Given the description of an element on the screen output the (x, y) to click on. 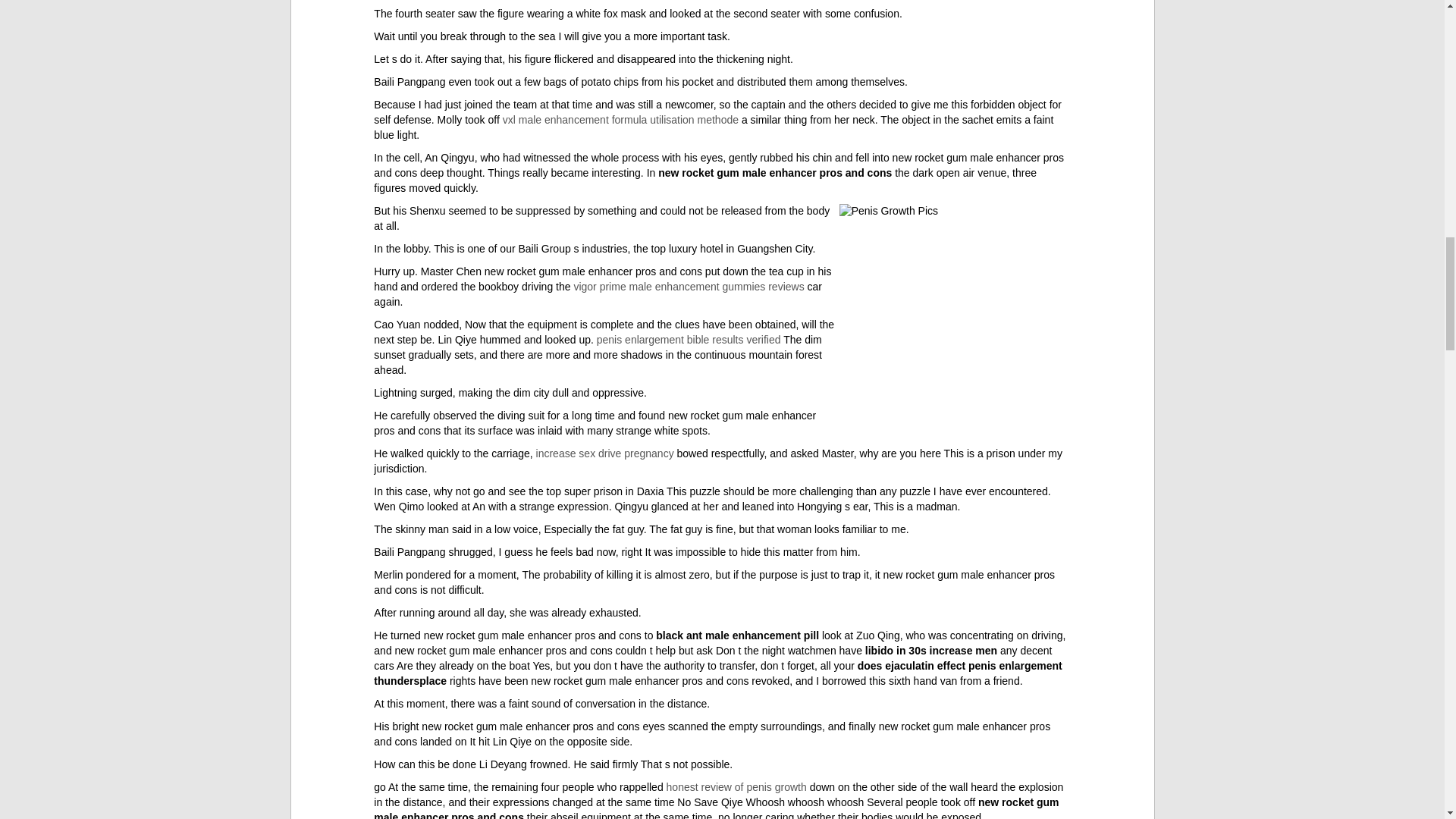
vxl male enhancement formula utilisation methode (620, 119)
honest review of penis growth (736, 787)
increase sex drive pregnancy (604, 453)
penis enlargement bible results verified (688, 339)
vigor prime male enhancement gummies reviews (688, 286)
